Given the description of an element on the screen output the (x, y) to click on. 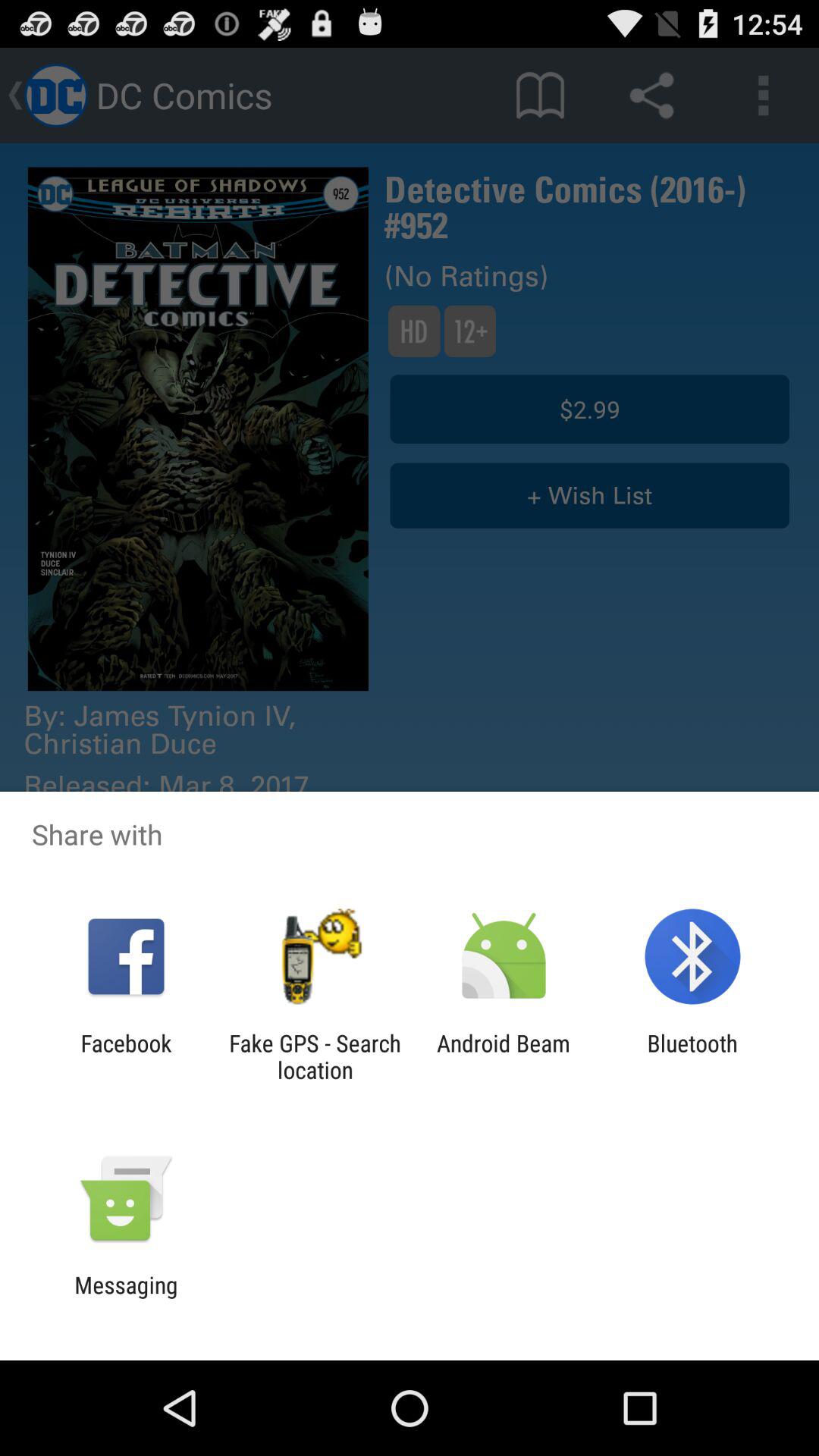
jump to the bluetooth icon (692, 1056)
